Given the description of an element on the screen output the (x, y) to click on. 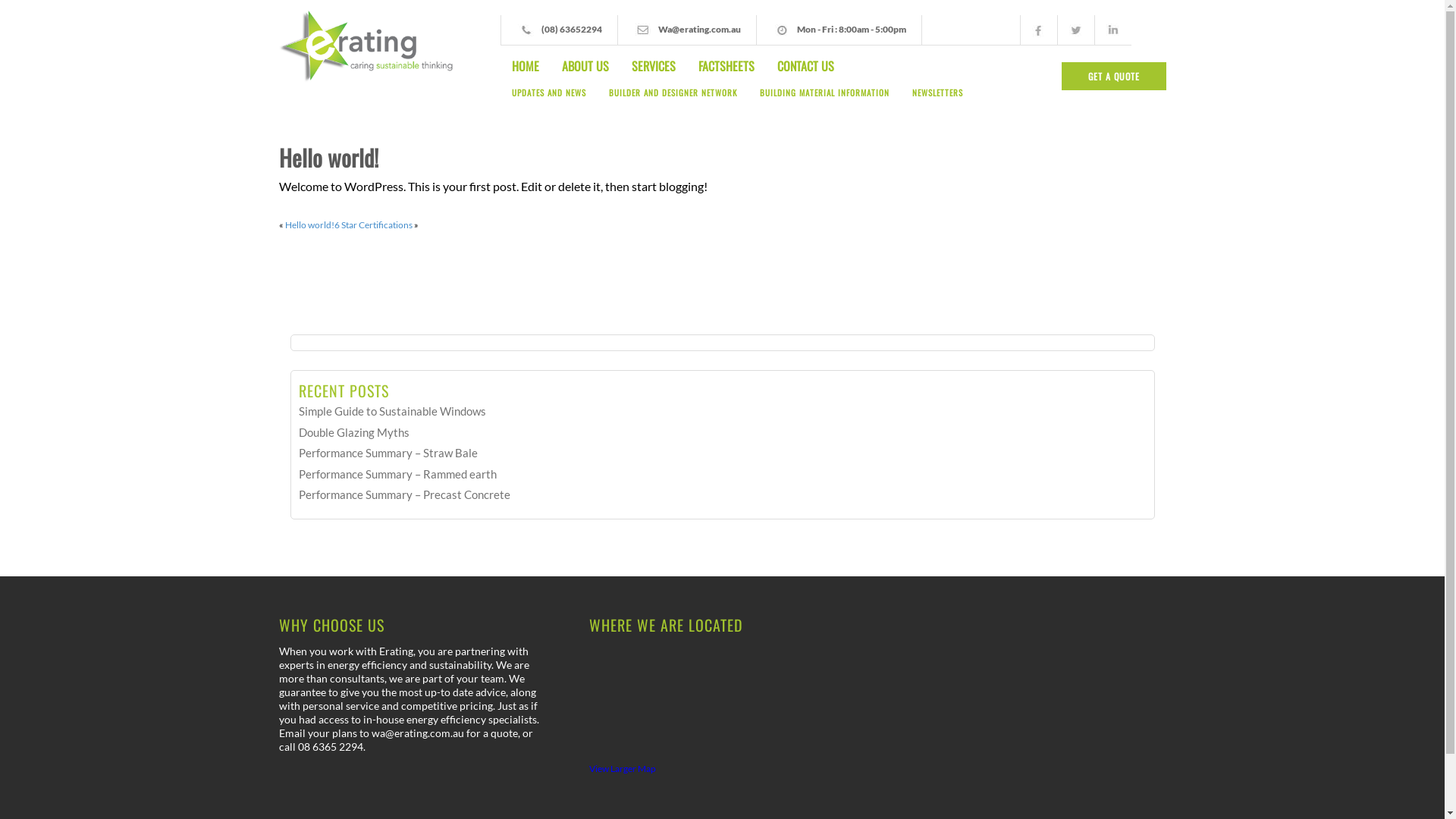
SERVICES Element type: text (653, 65)
ABOUT US Element type: text (585, 65)
Wa@erating.com.au Element type: text (699, 28)
Hello world! Element type: text (309, 224)
CONTACT US Element type: text (805, 65)
Erating - Energy Raters in Western Australia  Element type: hover (367, 46)
Double Glazing Myths Element type: text (353, 432)
Simple Guide to Sustainable Windows Element type: text (392, 410)
HOME Element type: text (525, 65)
FACTSHEETS Element type: text (726, 65)
6 Star Certifications Element type: text (372, 224)
GET A QUOTE Element type: text (1113, 76)
View Larger Map Element type: text (622, 768)
NEWSLETTERS Element type: text (937, 98)
(08) 63652294 Element type: text (571, 28)
BUILDING MATERIAL INFORMATION Element type: text (824, 98)
BUILDER AND DESIGNER NETWORK Element type: text (672, 98)
UPDATES AND NEWS Element type: text (548, 98)
